Given the description of an element on the screen output the (x, y) to click on. 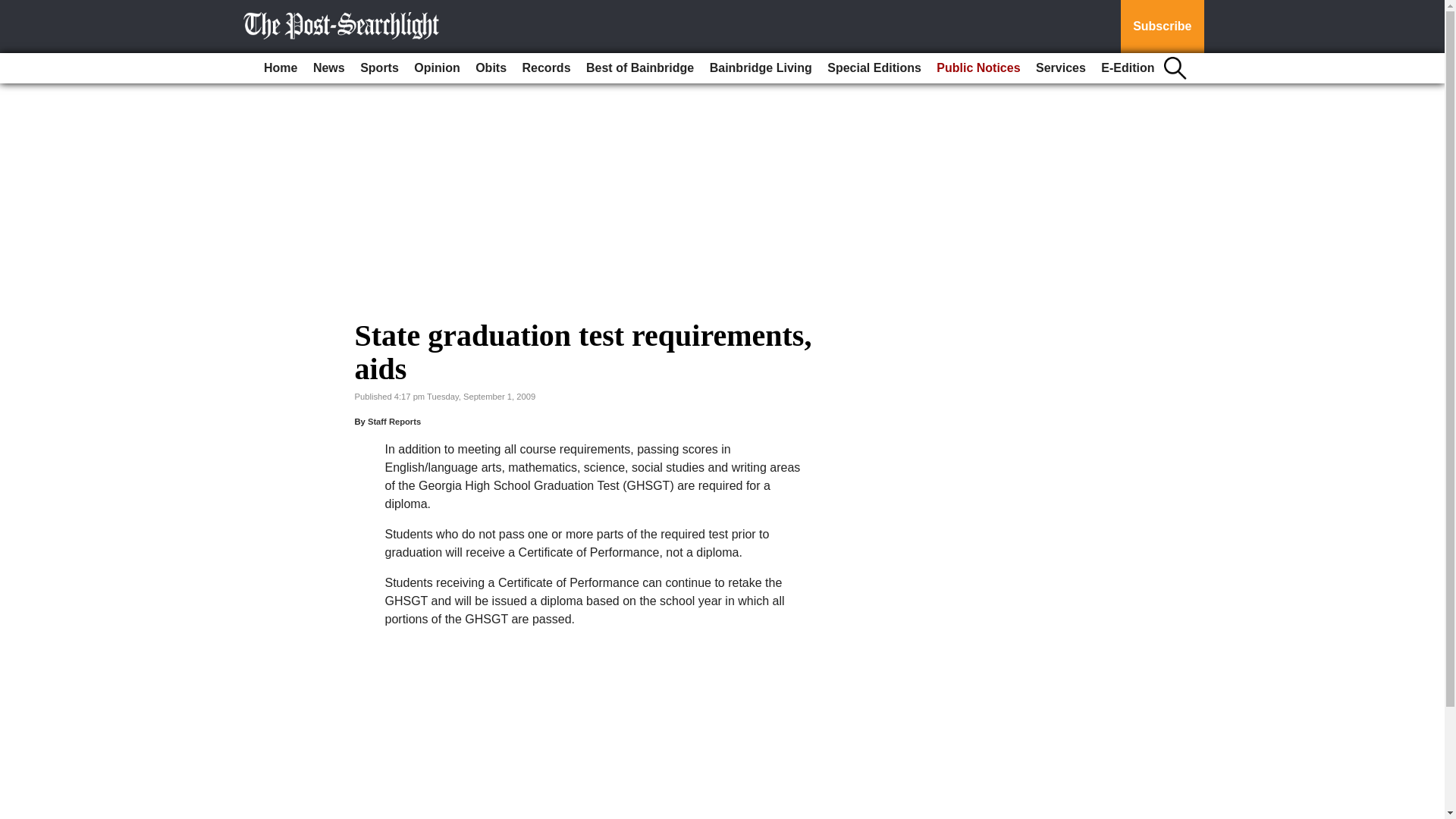
Subscribe (1162, 26)
News (328, 68)
Bainbridge Living (760, 68)
Opinion (436, 68)
Home (279, 68)
Sports (378, 68)
Services (1060, 68)
Go (13, 9)
Obits (490, 68)
Best of Bainbridge (639, 68)
